Given the description of an element on the screen output the (x, y) to click on. 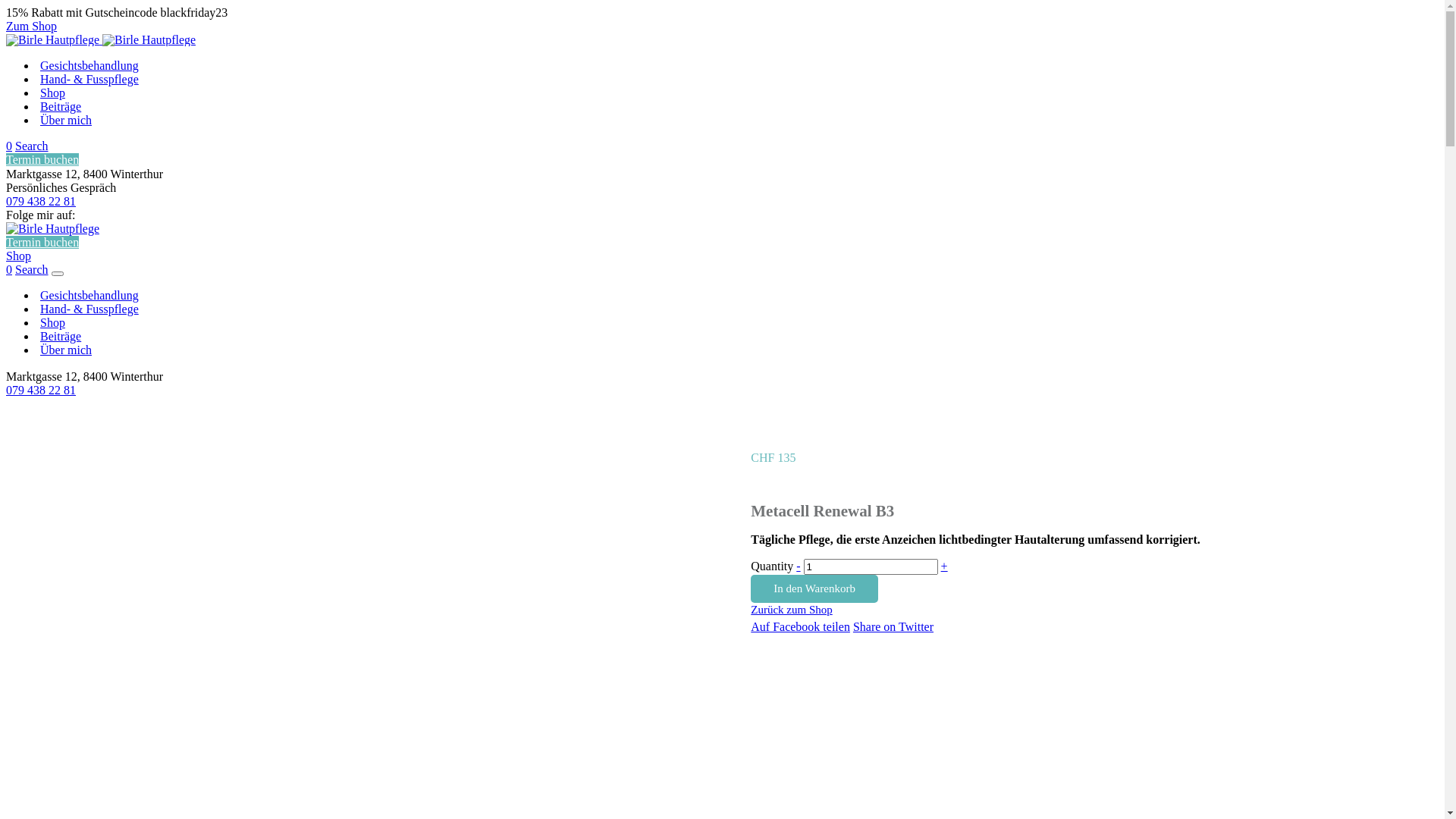
Search Element type: text (31, 269)
Gesichtsbehandlung Element type: text (89, 65)
+ Element type: text (944, 565)
Zum Shop Element type: text (31, 25)
Hand- & Fusspflege Element type: text (89, 308)
Shop Element type: text (52, 322)
- Element type: text (798, 565)
Shop Element type: text (52, 92)
Gesichtsbehandlung Element type: text (89, 294)
Hand- & Fusspflege Element type: text (89, 78)
079 438 22 81 Element type: text (40, 389)
Termin buchen Element type: text (42, 159)
Shop Element type: text (18, 255)
Qty Element type: hover (870, 566)
Termin buchen Element type: text (42, 241)
Share on Twitter Element type: text (893, 626)
0 Element type: text (9, 145)
079 438 22 81 Element type: text (40, 200)
0 Element type: text (9, 269)
Auf Facebook teilen Element type: text (800, 626)
In den Warenkorb Element type: text (814, 588)
Search Element type: text (31, 145)
